Given the description of an element on the screen output the (x, y) to click on. 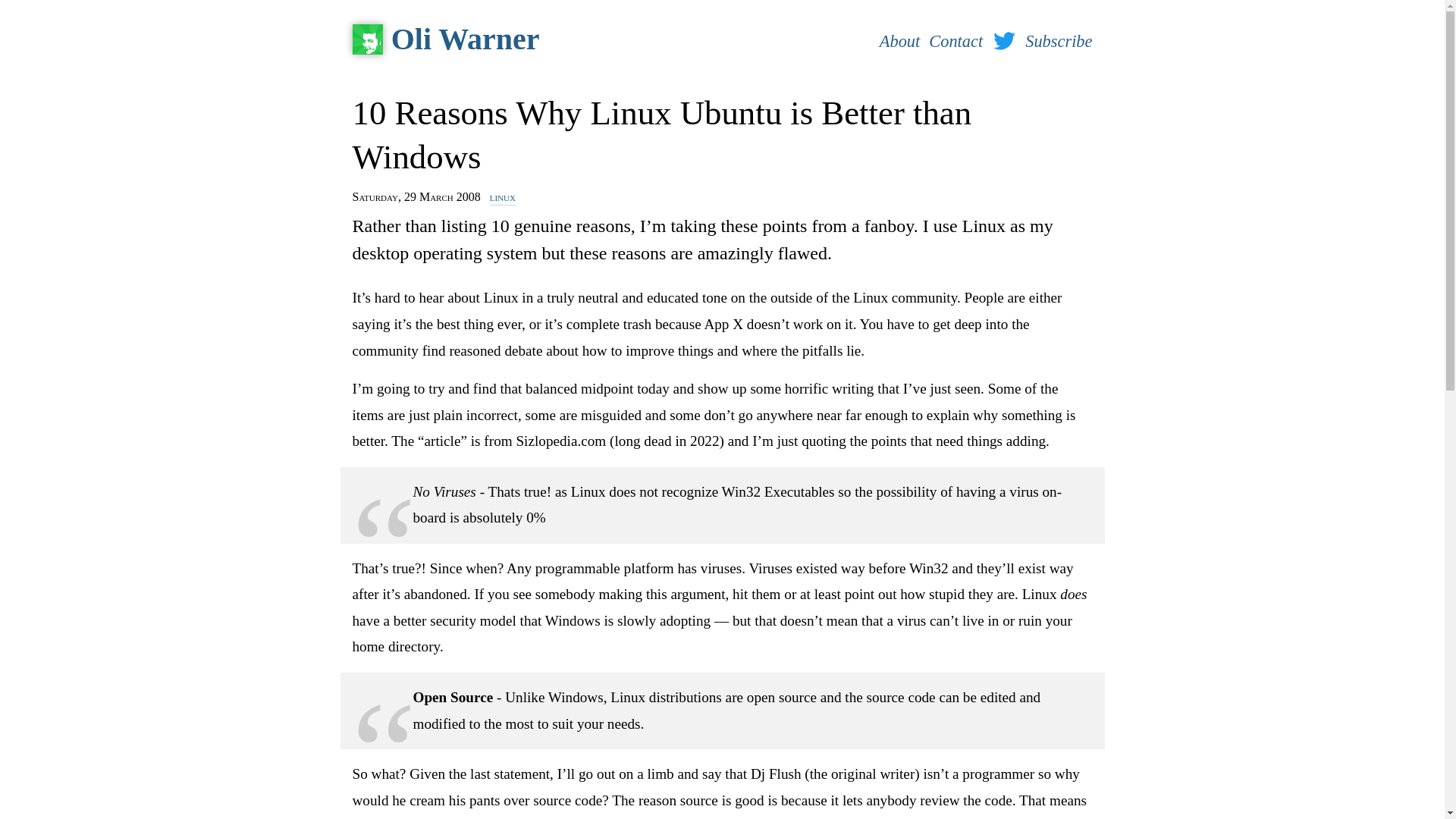
About (899, 41)
linux (502, 196)
Oli Warner (610, 39)
Subscribe (1058, 41)
Contact (955, 41)
Subscribe via RSS (1058, 41)
